Given the description of an element on the screen output the (x, y) to click on. 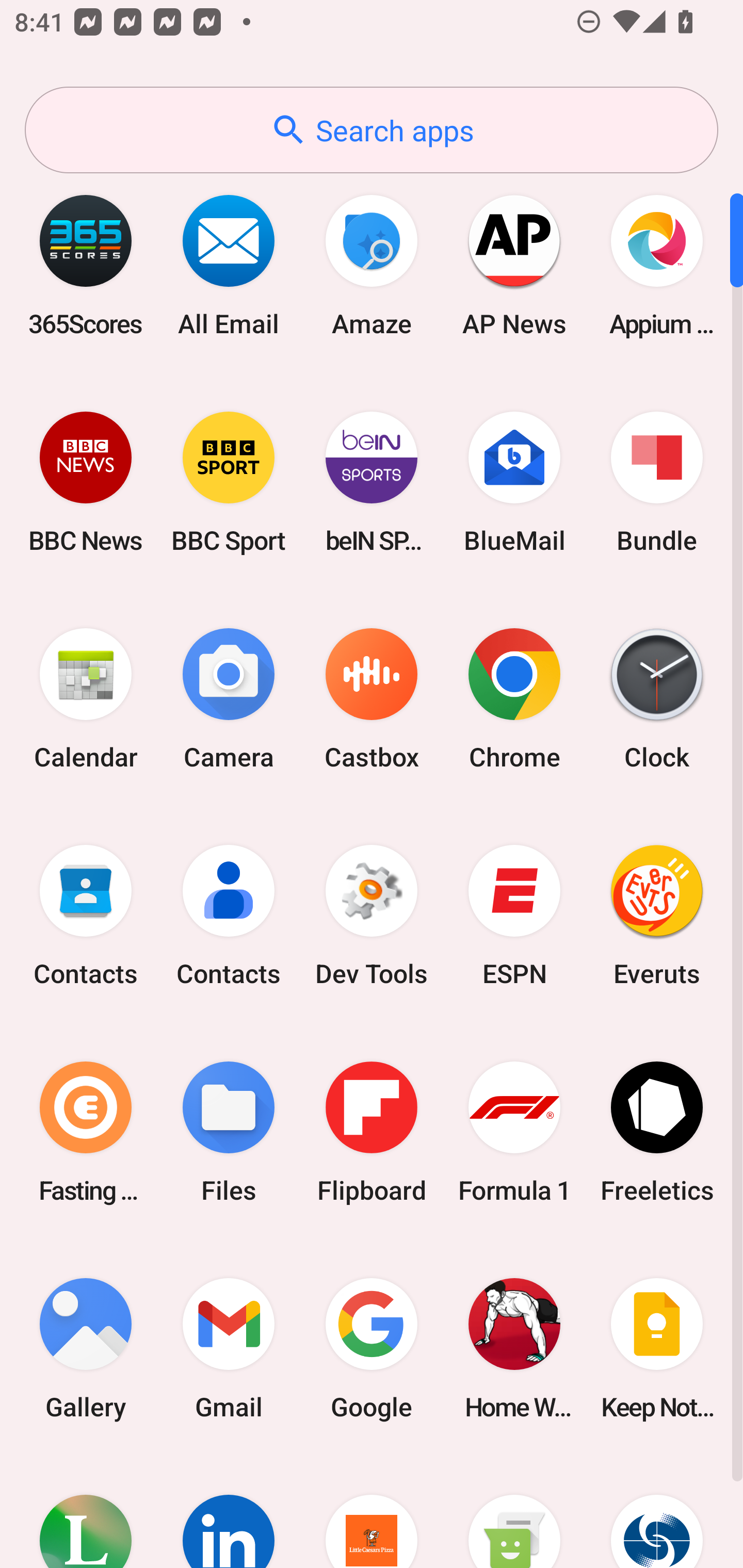
  Search apps (371, 130)
365Scores (85, 264)
All Email (228, 264)
Amaze (371, 264)
AP News (514, 264)
Appium Settings (656, 264)
BBC News (85, 482)
BBC Sport (228, 482)
beIN SPORTS (371, 482)
BlueMail (514, 482)
Bundle (656, 482)
Calendar (85, 699)
Camera (228, 699)
Castbox (371, 699)
Chrome (514, 699)
Clock (656, 699)
Contacts (85, 915)
Contacts (228, 915)
Dev Tools (371, 915)
ESPN (514, 915)
Everuts (656, 915)
Fasting Coach (85, 1131)
Files (228, 1131)
Flipboard (371, 1131)
Formula 1 (514, 1131)
Freeletics (656, 1131)
Gallery (85, 1348)
Gmail (228, 1348)
Google (371, 1348)
Home Workout (514, 1348)
Keep Notes (656, 1348)
